Given the description of an element on the screen output the (x, y) to click on. 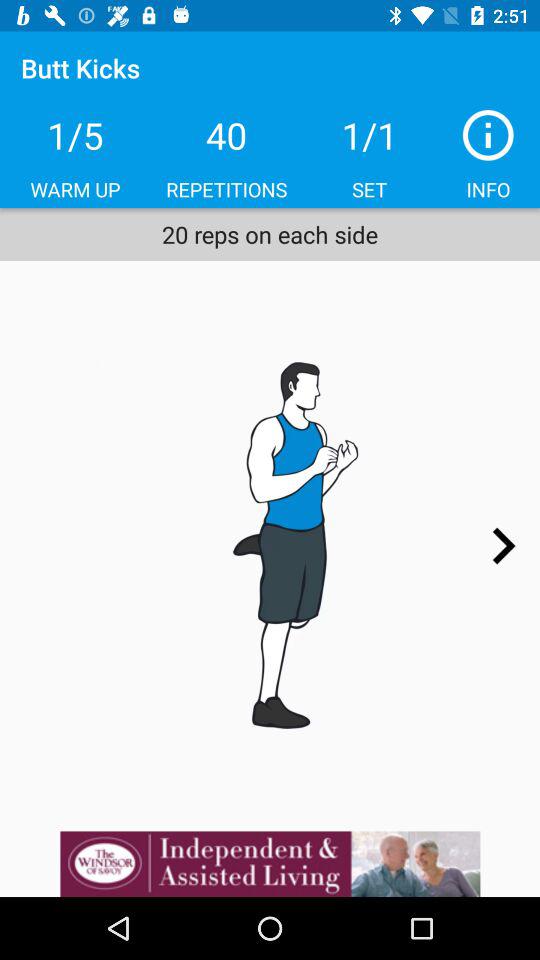
next page (503, 545)
